Given the description of an element on the screen output the (x, y) to click on. 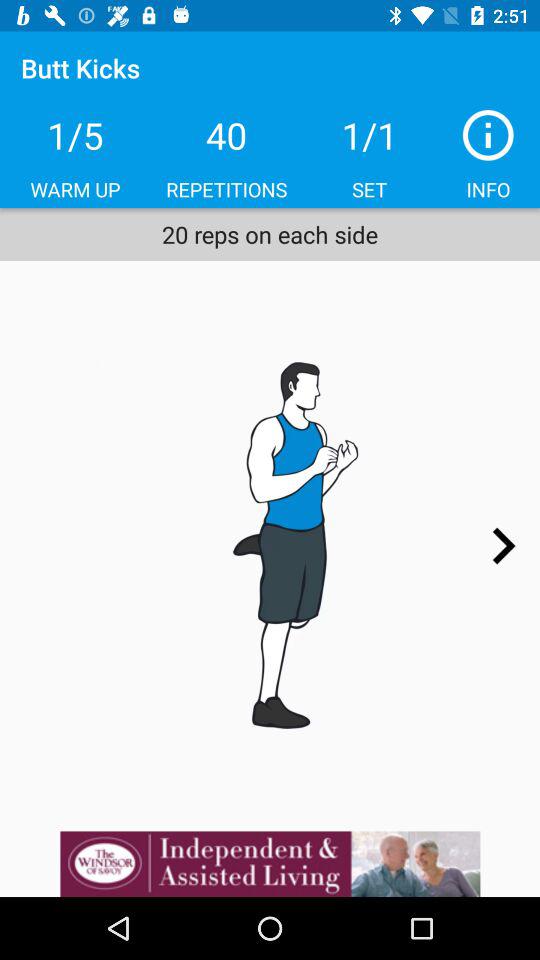
next page (503, 545)
